Given the description of an element on the screen output the (x, y) to click on. 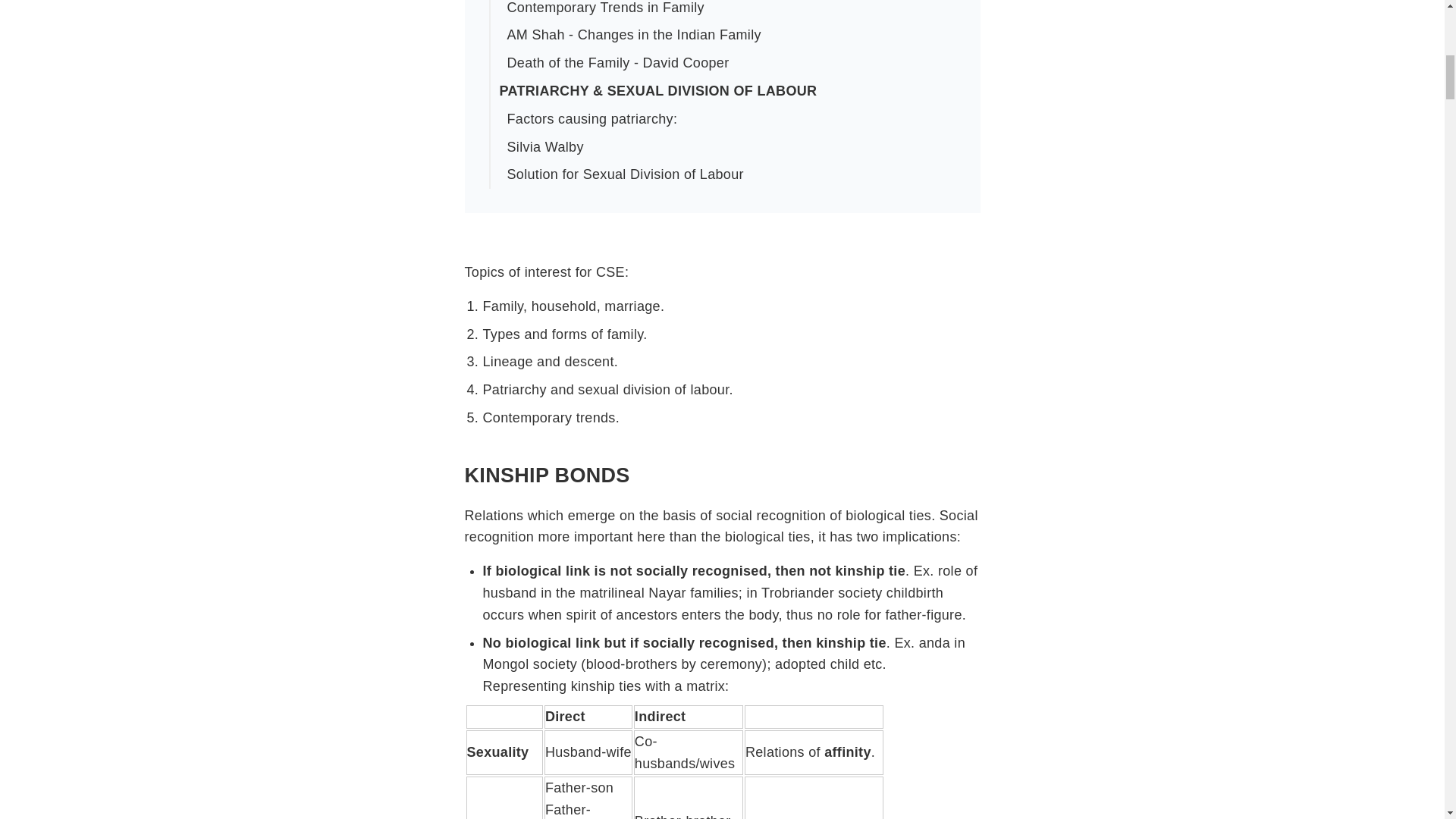
Death of the Family - David Cooper (729, 62)
Solution for Sexual Division of Labour (729, 174)
Silvia Walby (729, 147)
AM Shah - Changes in the Indian Family (729, 35)
Factors causing patriarchy: (729, 119)
Contemporary Trends in Family (729, 11)
